Given the description of an element on the screen output the (x, y) to click on. 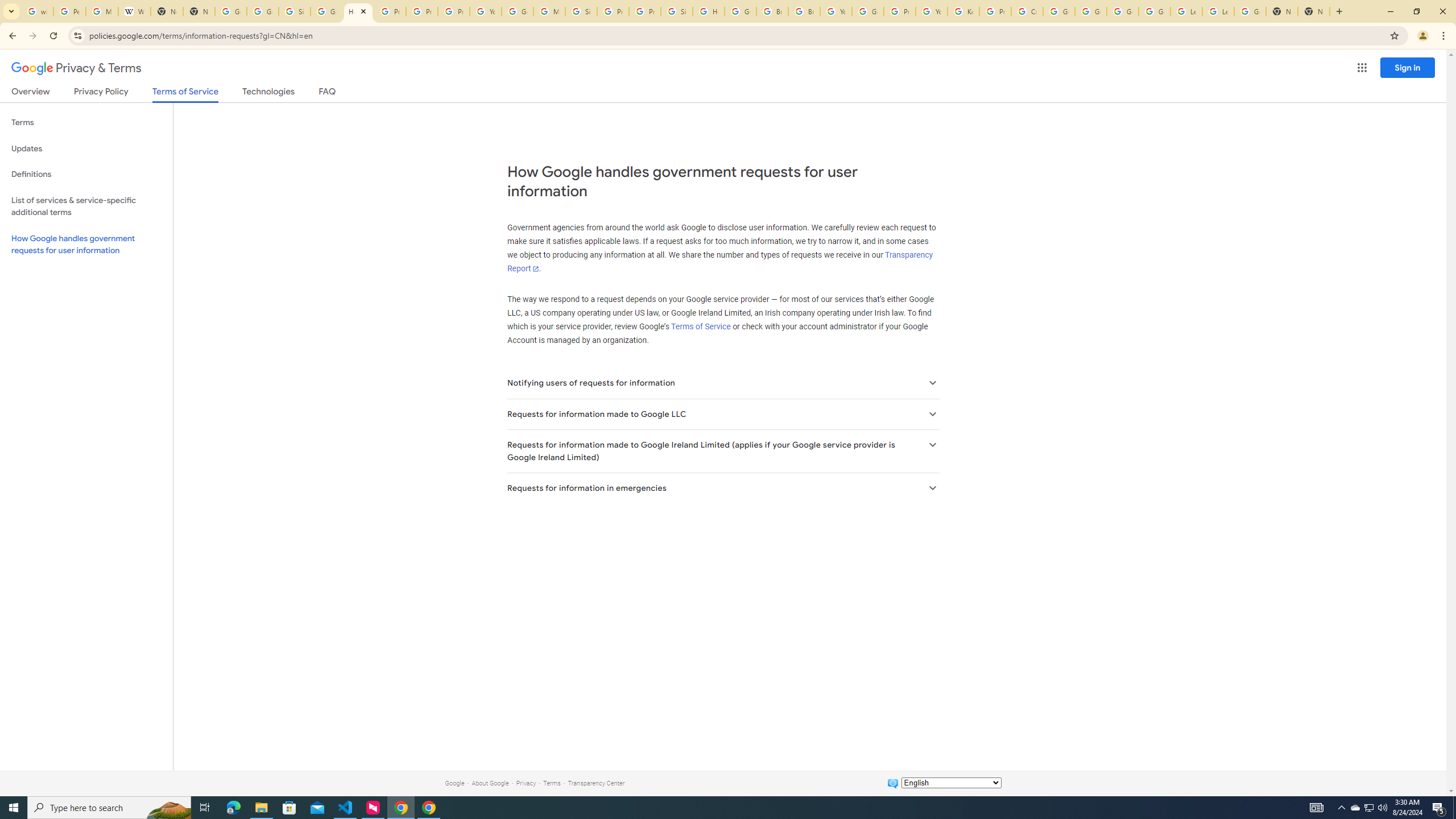
Notifying users of requests for information (722, 382)
Sign in - Google Accounts (294, 11)
Personalization & Google Search results - Google Search Help (69, 11)
Google Account Help (1059, 11)
Google Account Help (1091, 11)
Change language: (951, 782)
Sign in - Google Accounts (676, 11)
Requests for information made to Google LLC (722, 413)
New Tab (1313, 11)
Brand Resource Center (772, 11)
